Given the description of an element on the screen output the (x, y) to click on. 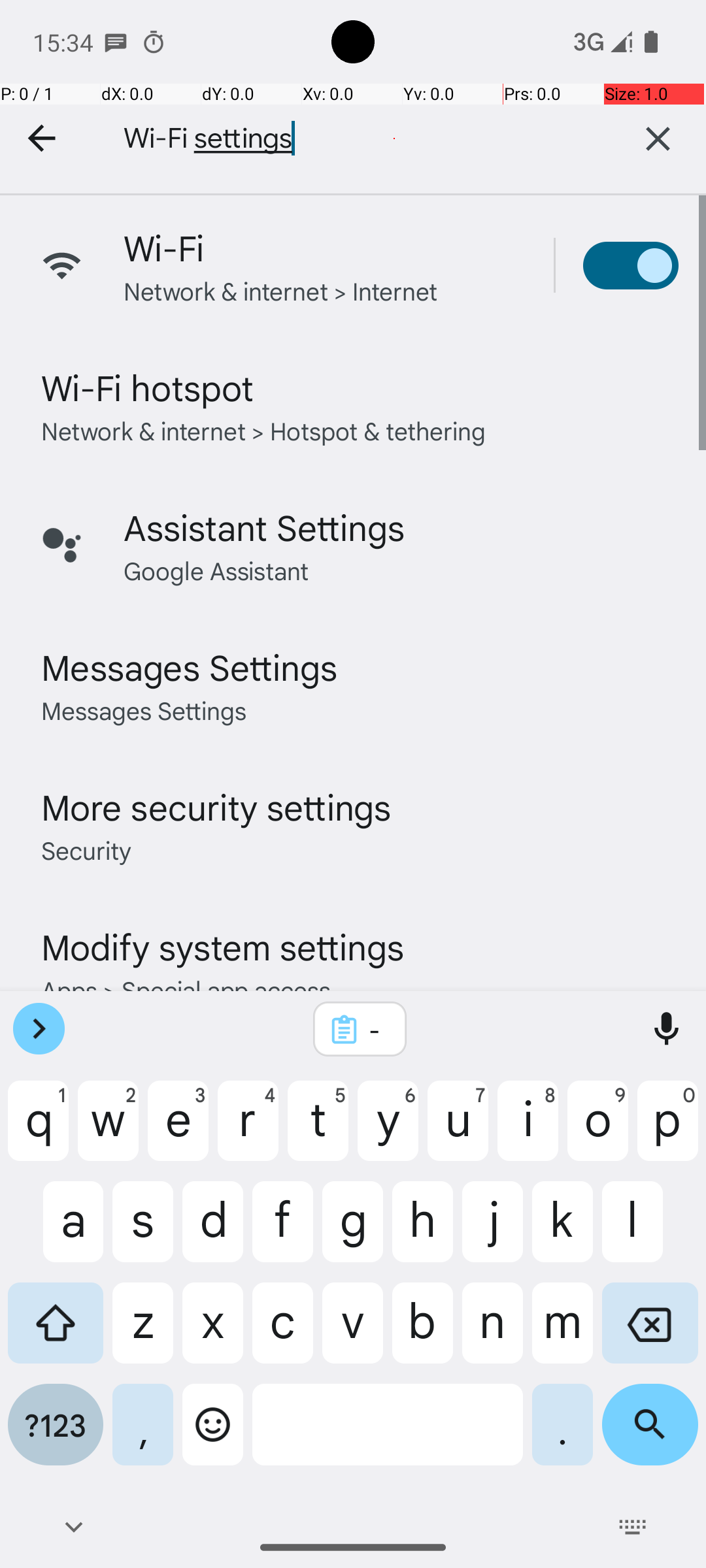
Wi-Fi settings Element type: android.widget.EditText (345, 138)
Network & internet > Internet Element type: android.widget.TextView (280, 289)
Wi-Fi hotspot Element type: android.widget.TextView (147, 386)
Network & internet > Hotspot & tethering Element type: android.widget.TextView (263, 429)
Assistant Settings Element type: android.widget.TextView (263, 526)
Google Assistant Element type: android.widget.TextView (215, 569)
Messages Settings Element type: android.widget.TextView (189, 666)
Modify system settings Element type: android.widget.TextView (222, 945)
Apps > Special app access Element type: android.widget.TextView (185, 988)
